Given the description of an element on the screen output the (x, y) to click on. 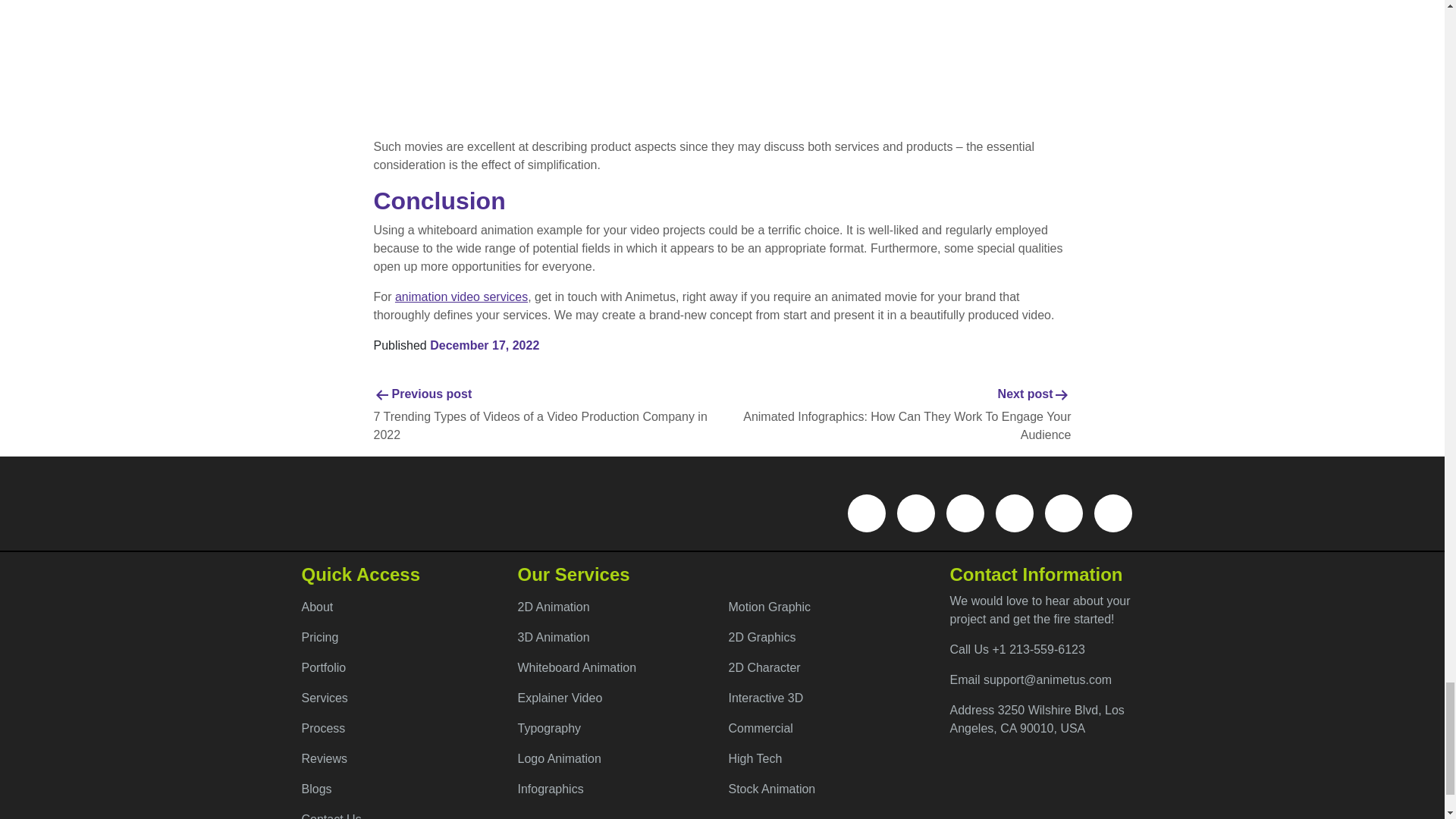
animation video services (460, 296)
